Given the description of an element on the screen output the (x, y) to click on. 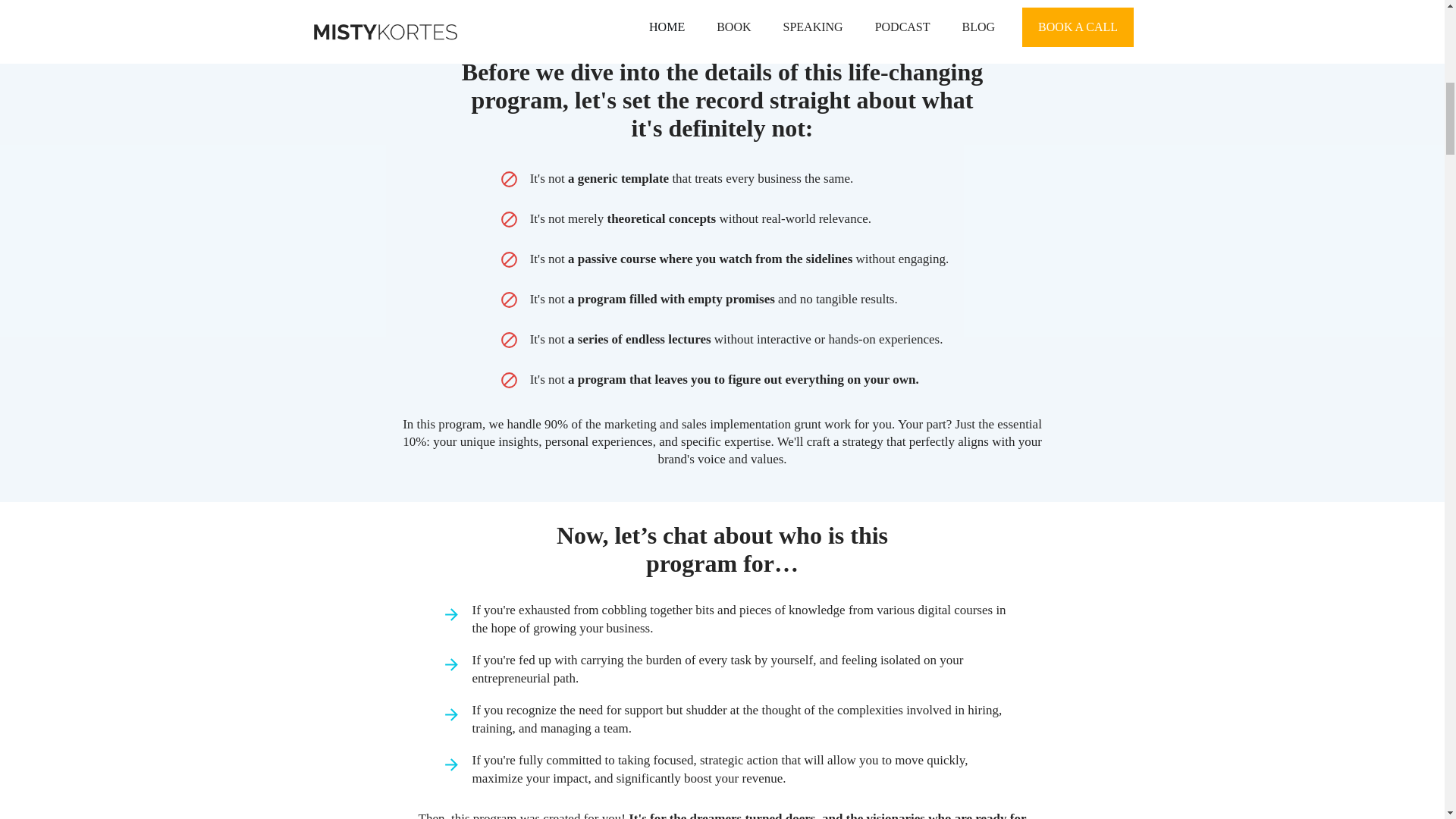
SCHEDULE A STRATEGY CALL (721, 2)
